Given the description of an element on the screen output the (x, y) to click on. 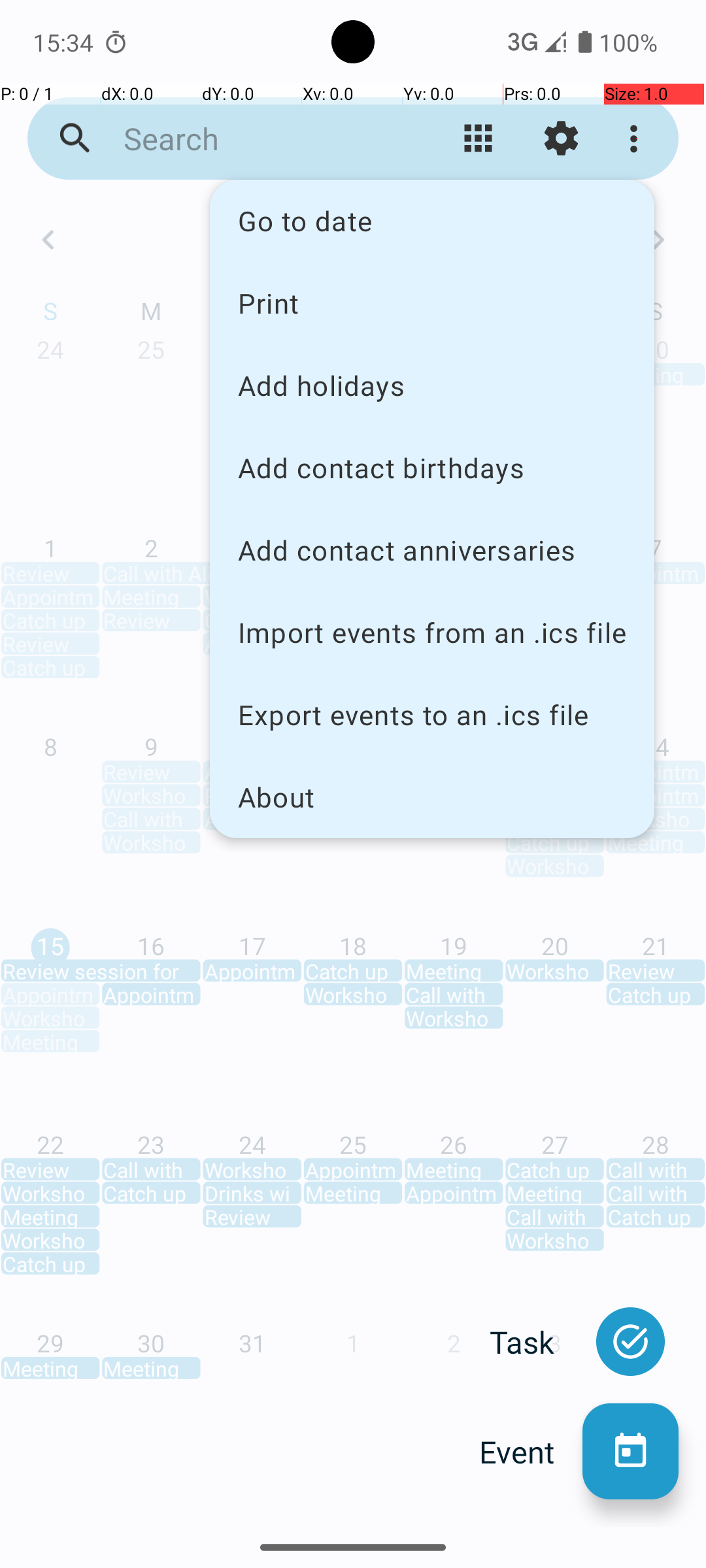
Go to date Element type: android.widget.TextView (431, 220)
Print Element type: android.widget.TextView (431, 302)
Add holidays Element type: android.widget.TextView (431, 384)
Add contact birthdays Element type: android.widget.TextView (431, 467)
Add contact anniversaries Element type: android.widget.TextView (431, 549)
Import events from an .ics file Element type: android.widget.TextView (431, 631)
Export events to an .ics file Element type: android.widget.TextView (431, 714)
